Given the description of an element on the screen output the (x, y) to click on. 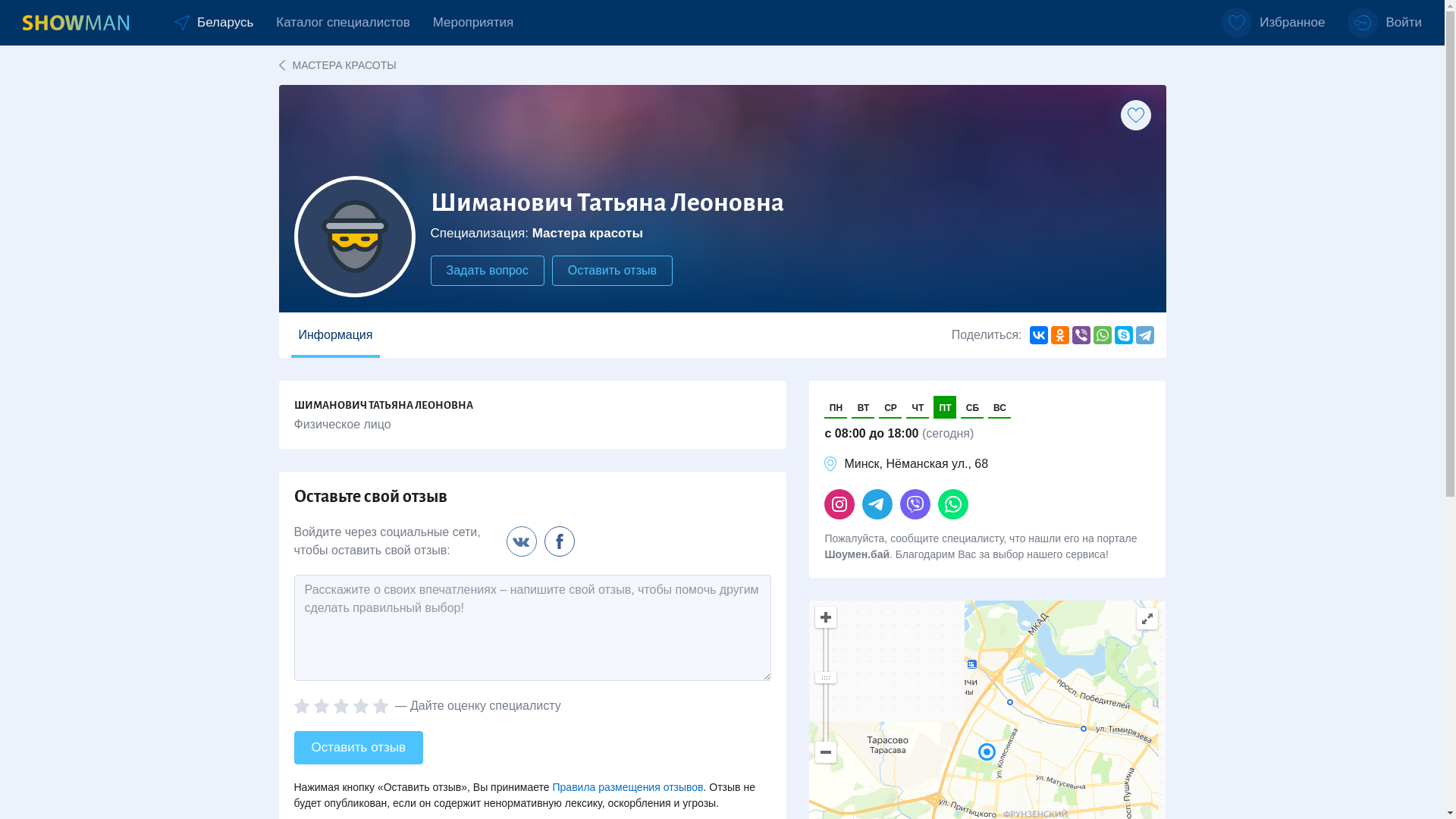
Telegram Element type: hover (1144, 335)
WhatsApp Element type: hover (1102, 335)
Skype Element type: hover (1123, 335)
Viber Element type: hover (1081, 335)
